Given the description of an element on the screen output the (x, y) to click on. 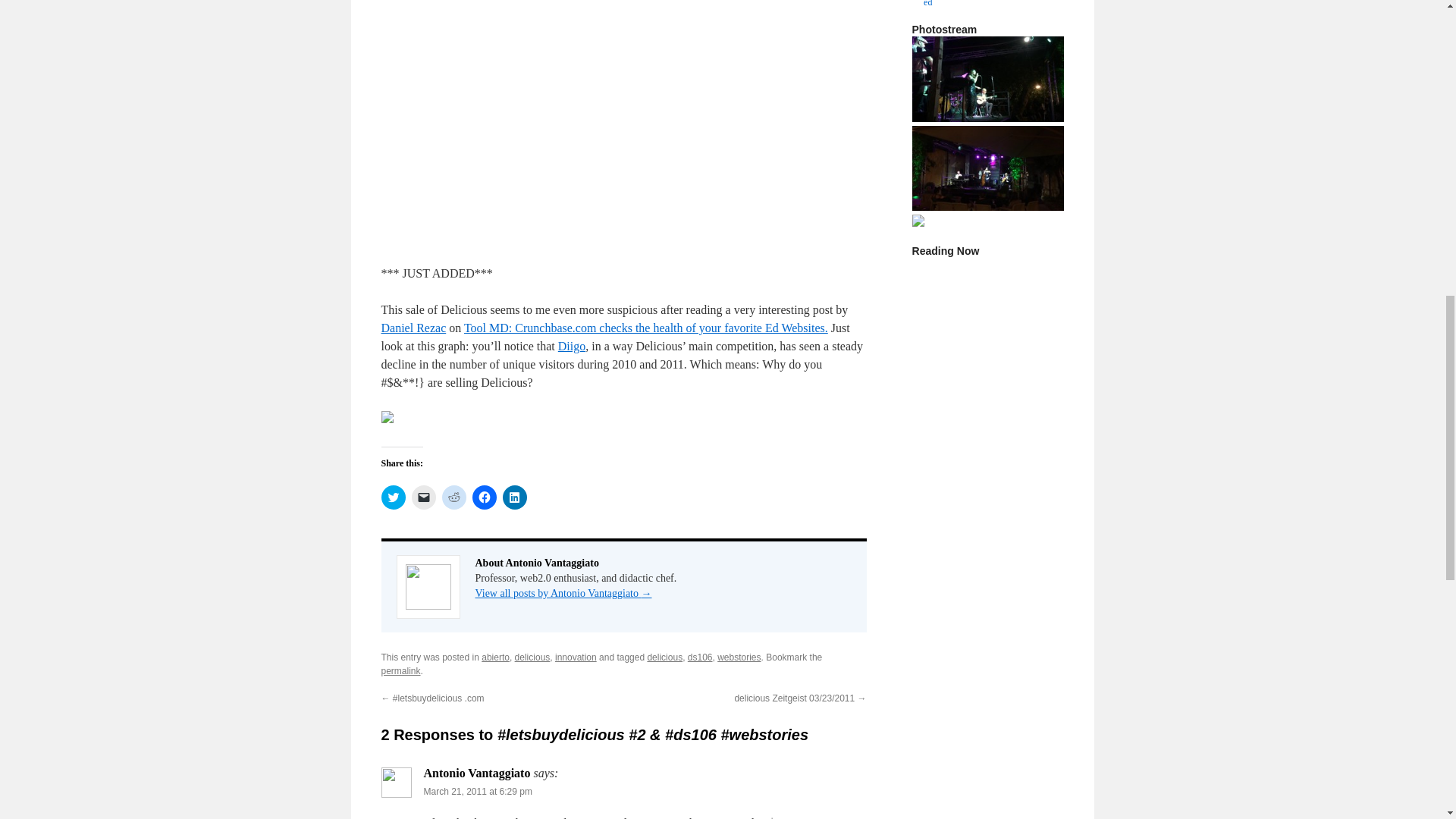
ds106 (700, 656)
Daniel Rezac (412, 327)
permalink (400, 670)
delicious (532, 656)
delicious (623, 123)
Click to share on Reddit (453, 497)
abierto (495, 656)
Diigo (571, 345)
